Given the description of an element on the screen output the (x, y) to click on. 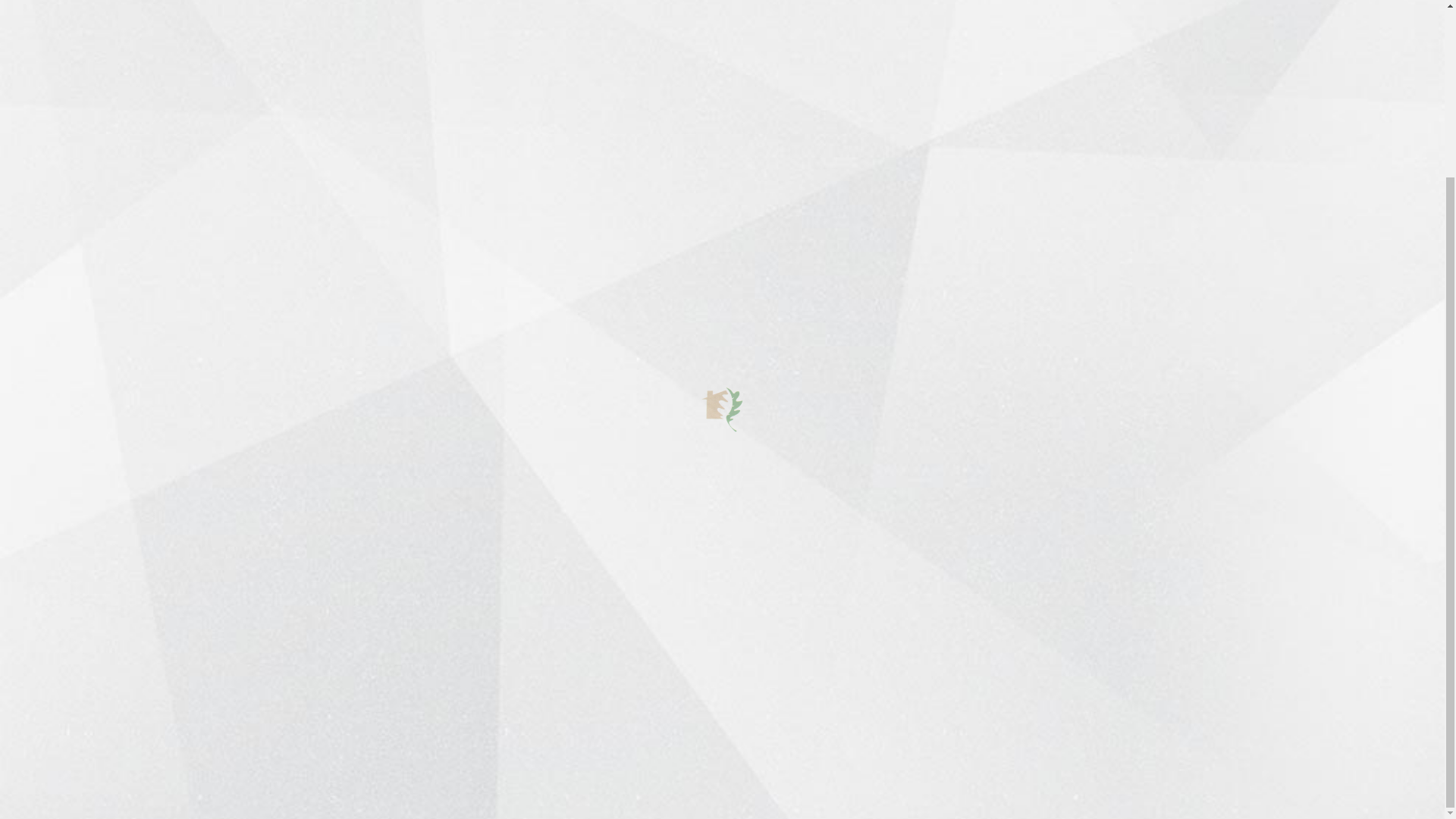
Visitors (622, 615)
Contact Us (1190, 785)
Our Services (636, 563)
Publications (634, 589)
Our Projects (635, 537)
Save (1307, 29)
Save (1307, 29)
This site is developed by Debug BD Ltd. (431, 785)
